Given the description of an element on the screen output the (x, y) to click on. 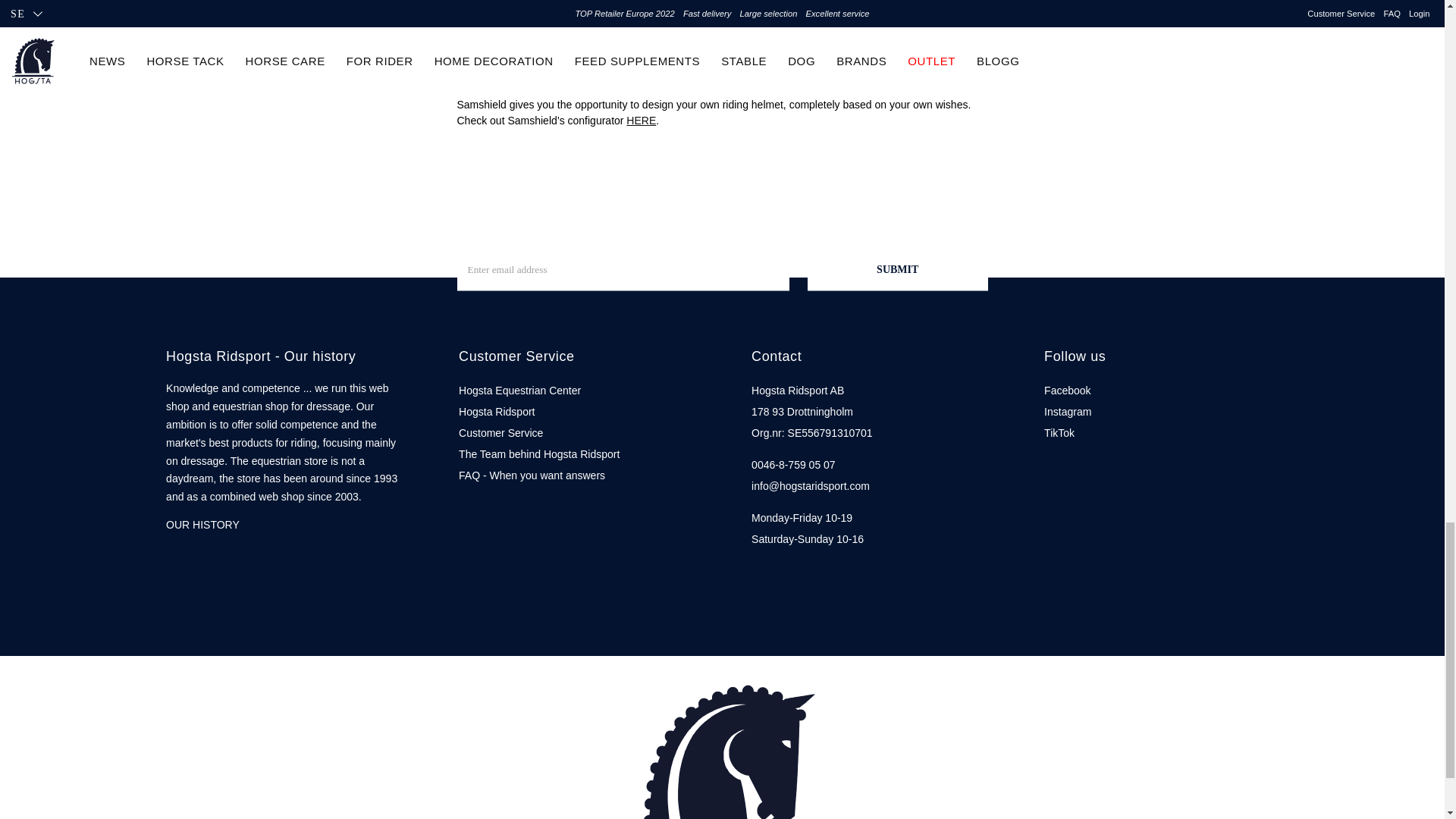
HERE (641, 119)
